Given the description of an element on the screen output the (x, y) to click on. 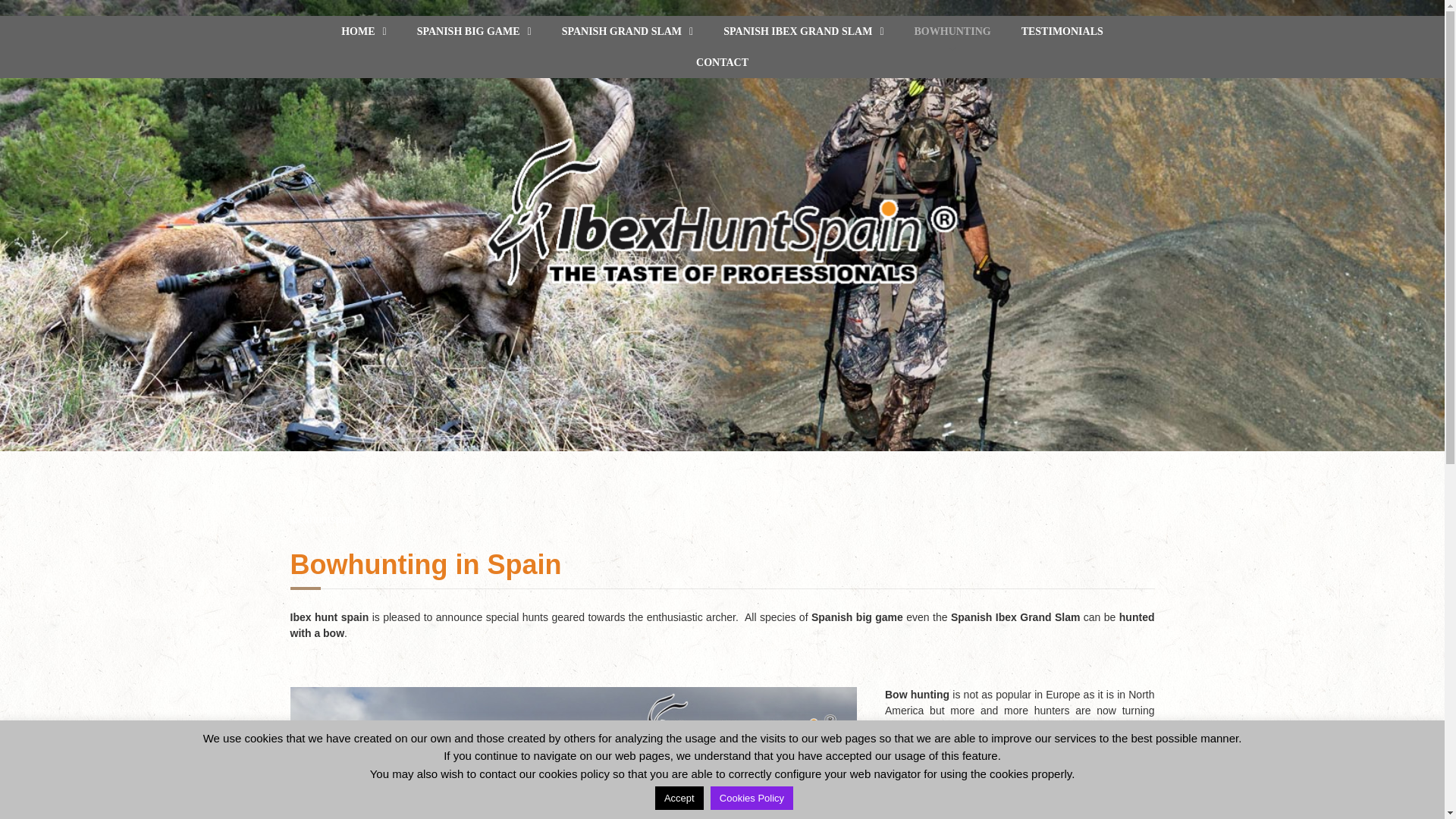
HOME (362, 30)
SPANISH GRAND SLAM (628, 30)
SPANISH BIG GAME (473, 30)
Ibex Hunt Spain (362, 30)
SPANISH IBEX GRAND SLAM (803, 30)
